Given the description of an element on the screen output the (x, y) to click on. 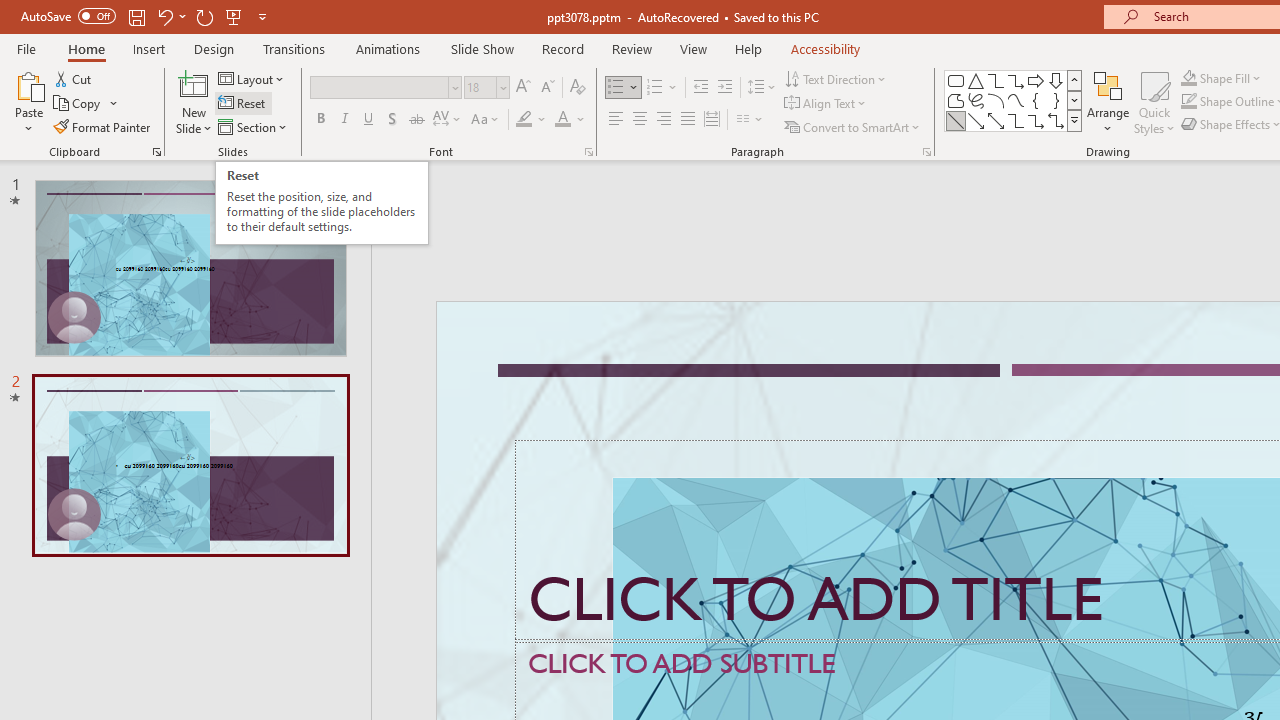
Bullets (623, 87)
Shapes (1074, 120)
Font Color (569, 119)
Row Down (1074, 100)
Section (254, 126)
Freeform: Scribble (975, 100)
Underline (369, 119)
Align Text (826, 103)
Shadow (392, 119)
Row up (1074, 79)
